Given the description of an element on the screen output the (x, y) to click on. 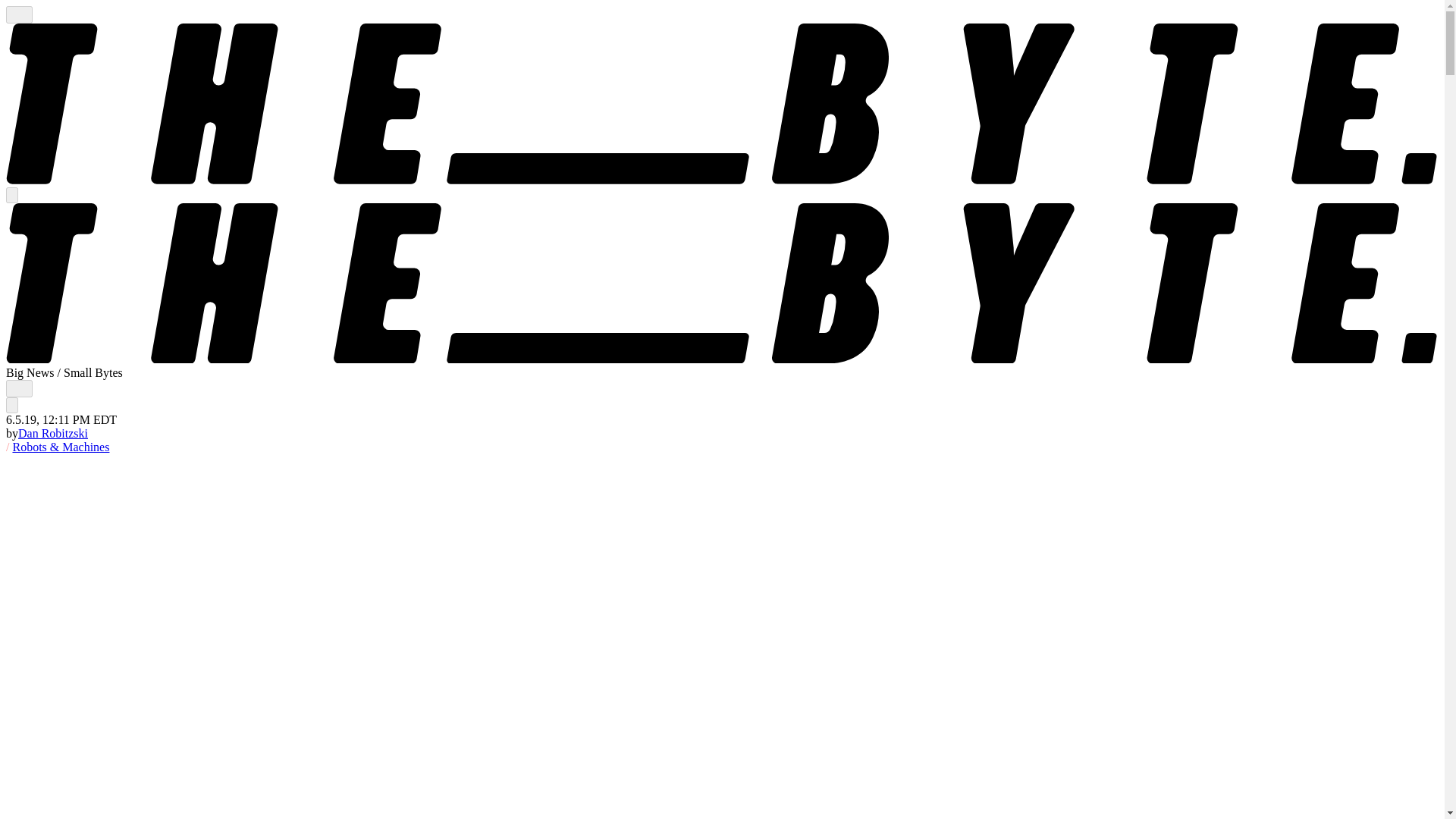
Dan Robitzski (52, 432)
Dan Robitzski (52, 432)
